Given the description of an element on the screen output the (x, y) to click on. 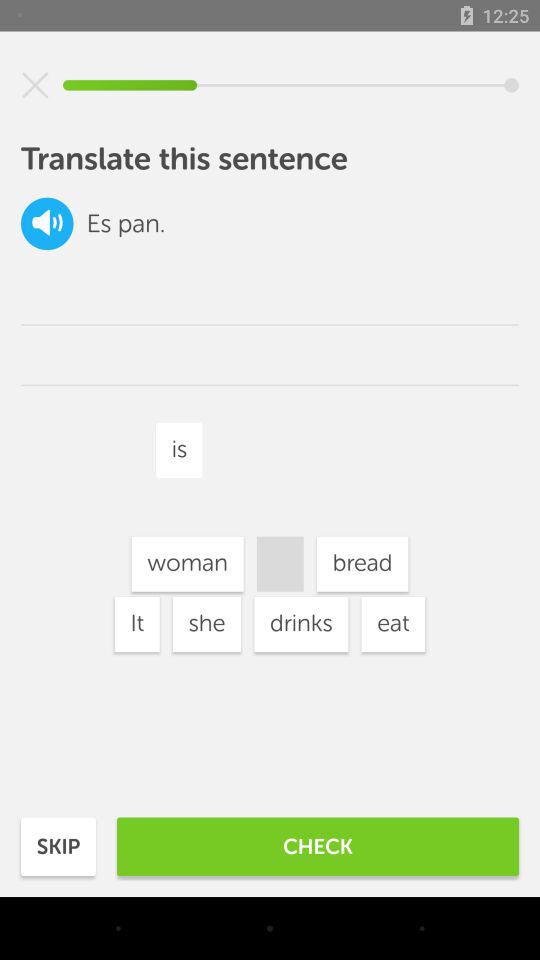
cancel this (35, 85)
